Given the description of an element on the screen output the (x, y) to click on. 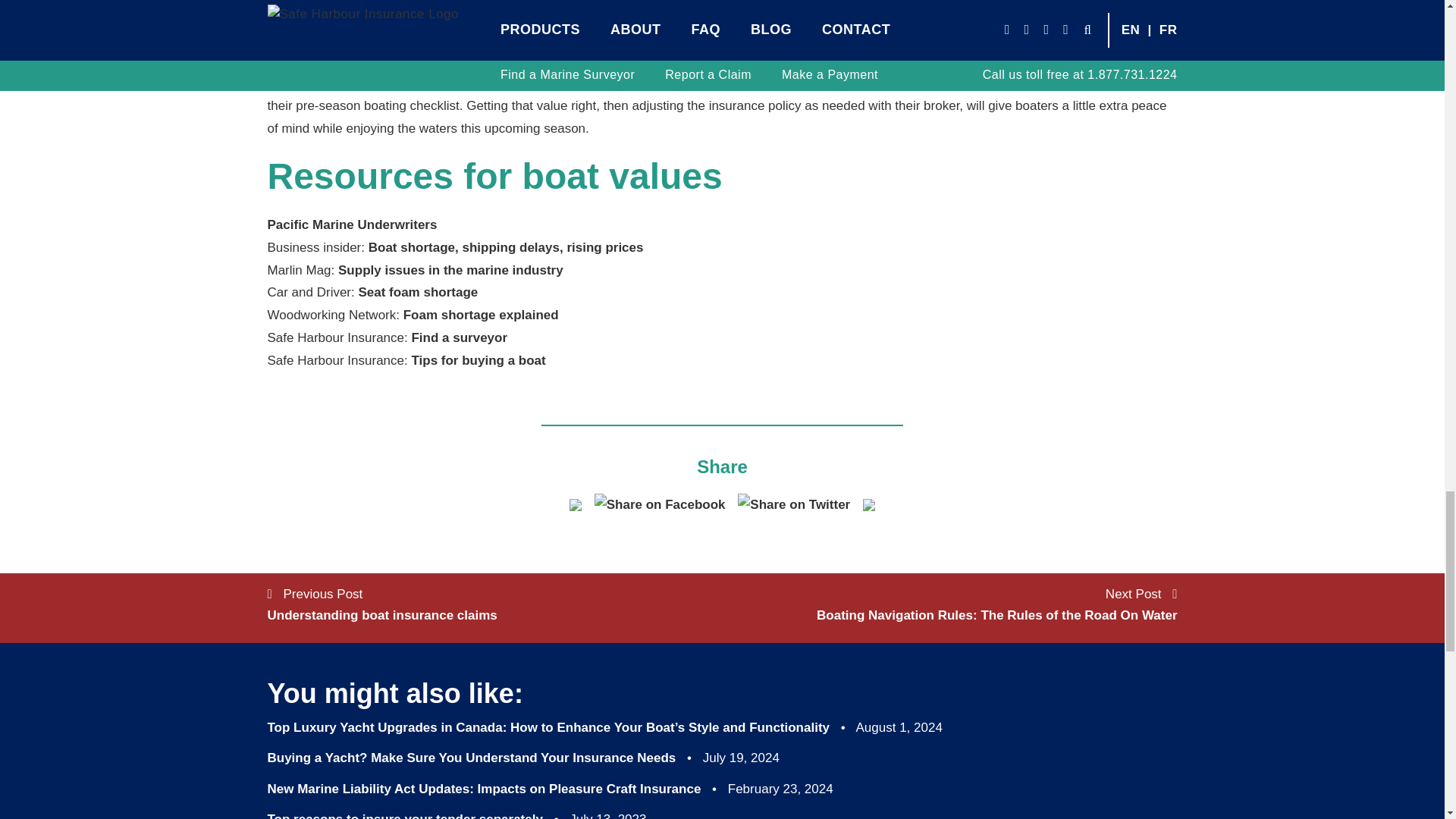
Share by Email (576, 503)
Top reasons to insure your tender separately (403, 815)
